Given the description of an element on the screen output the (x, y) to click on. 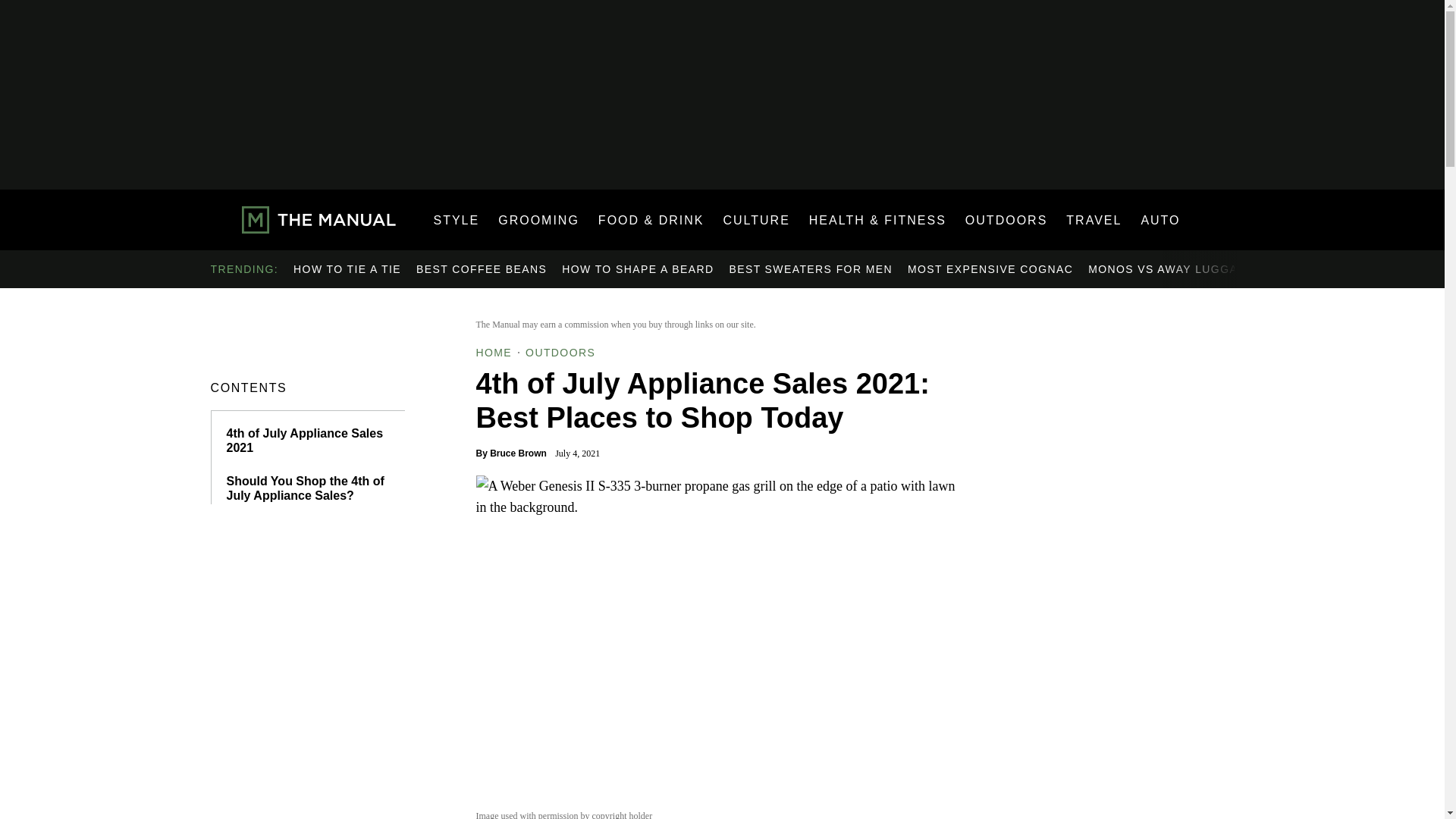
CULTURE (755, 219)
OUTDOORS (1005, 219)
GROOMING (538, 219)
TRAVEL (1093, 219)
